Given the description of an element on the screen output the (x, y) to click on. 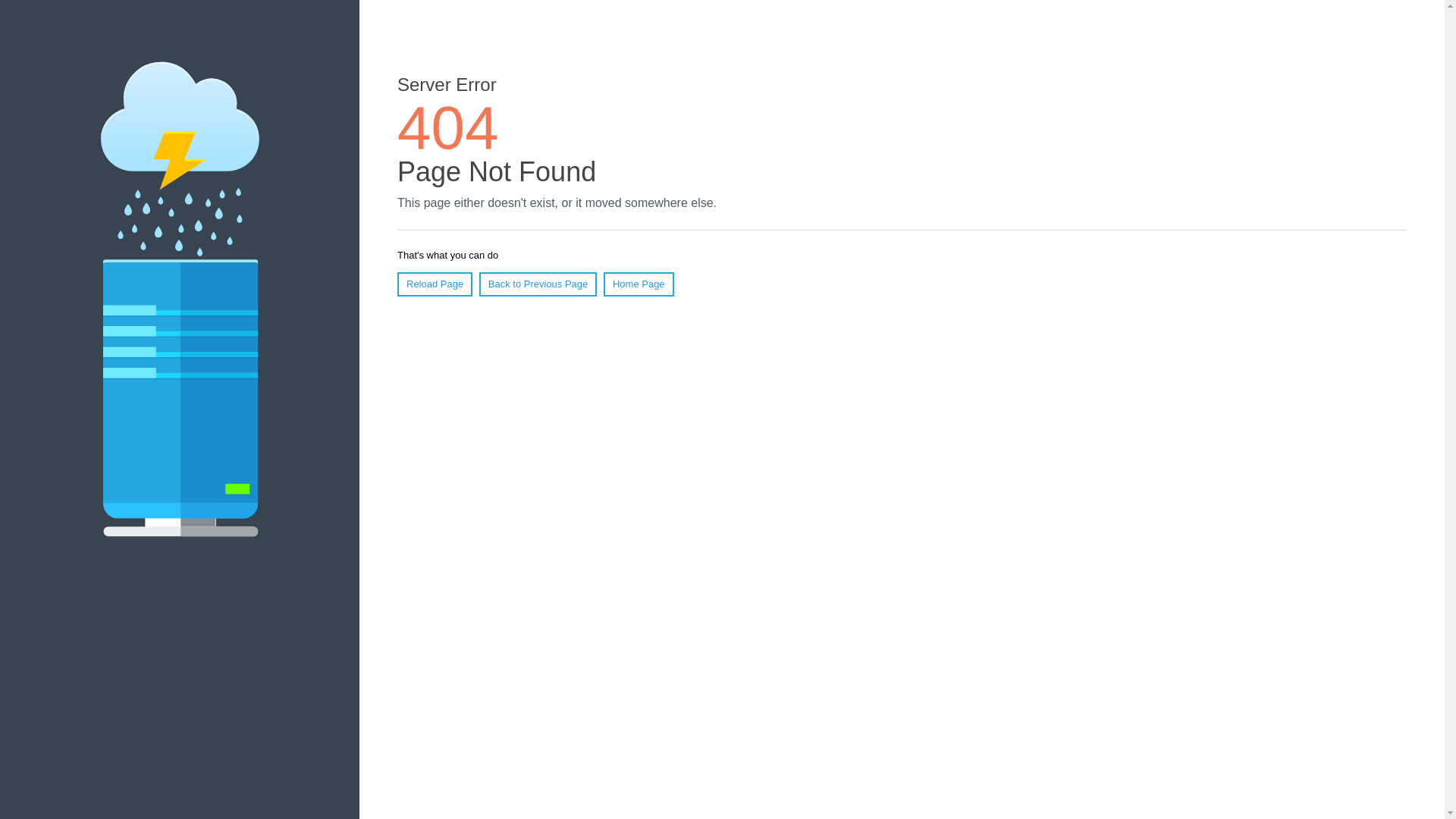
Home Page Element type: text (638, 284)
Back to Previous Page Element type: text (538, 284)
Reload Page Element type: text (434, 284)
